Given the description of an element on the screen output the (x, y) to click on. 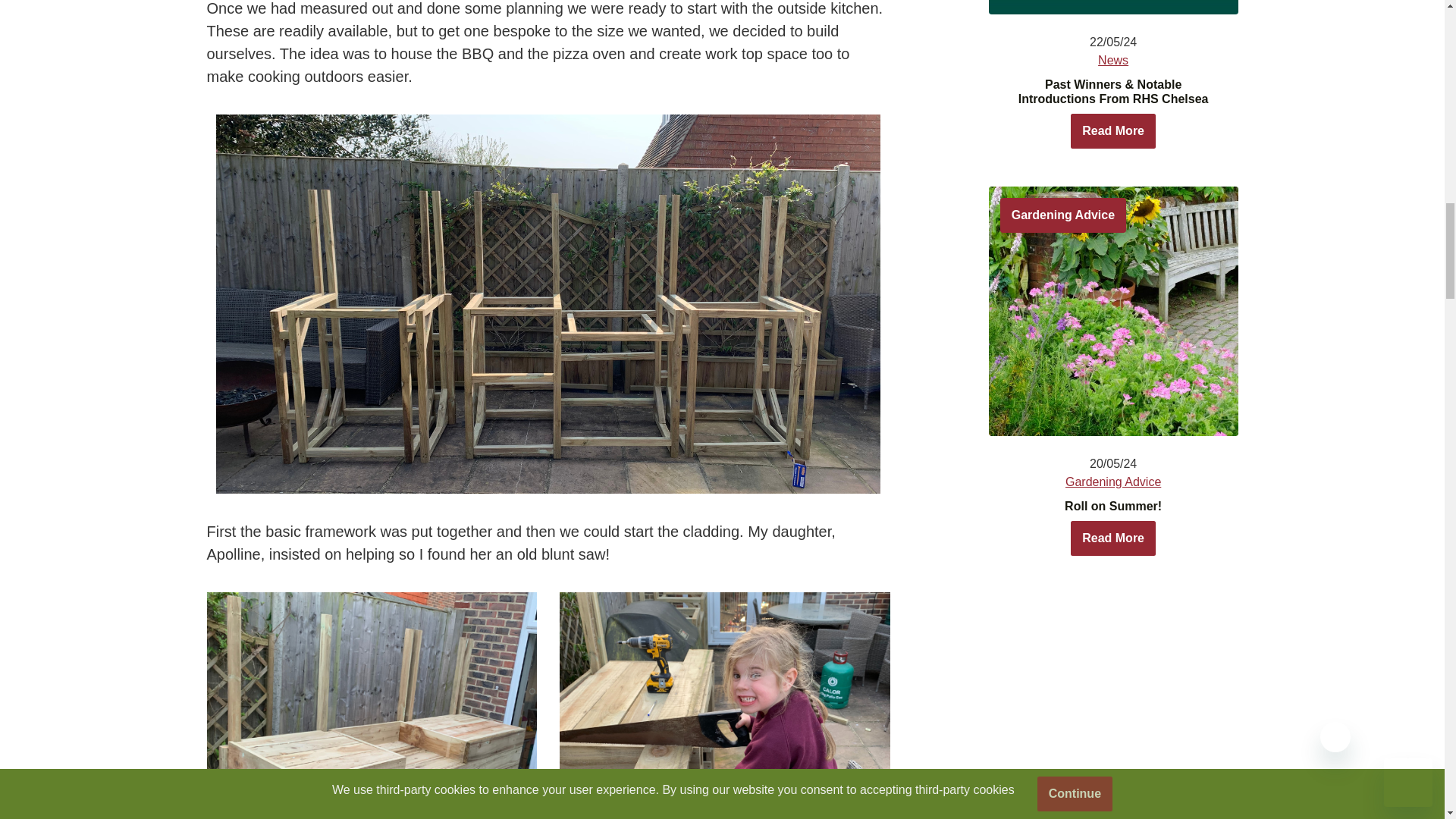
Cladding the framework (371, 705)
Apolline helps (724, 705)
